Given the description of an element on the screen output the (x, y) to click on. 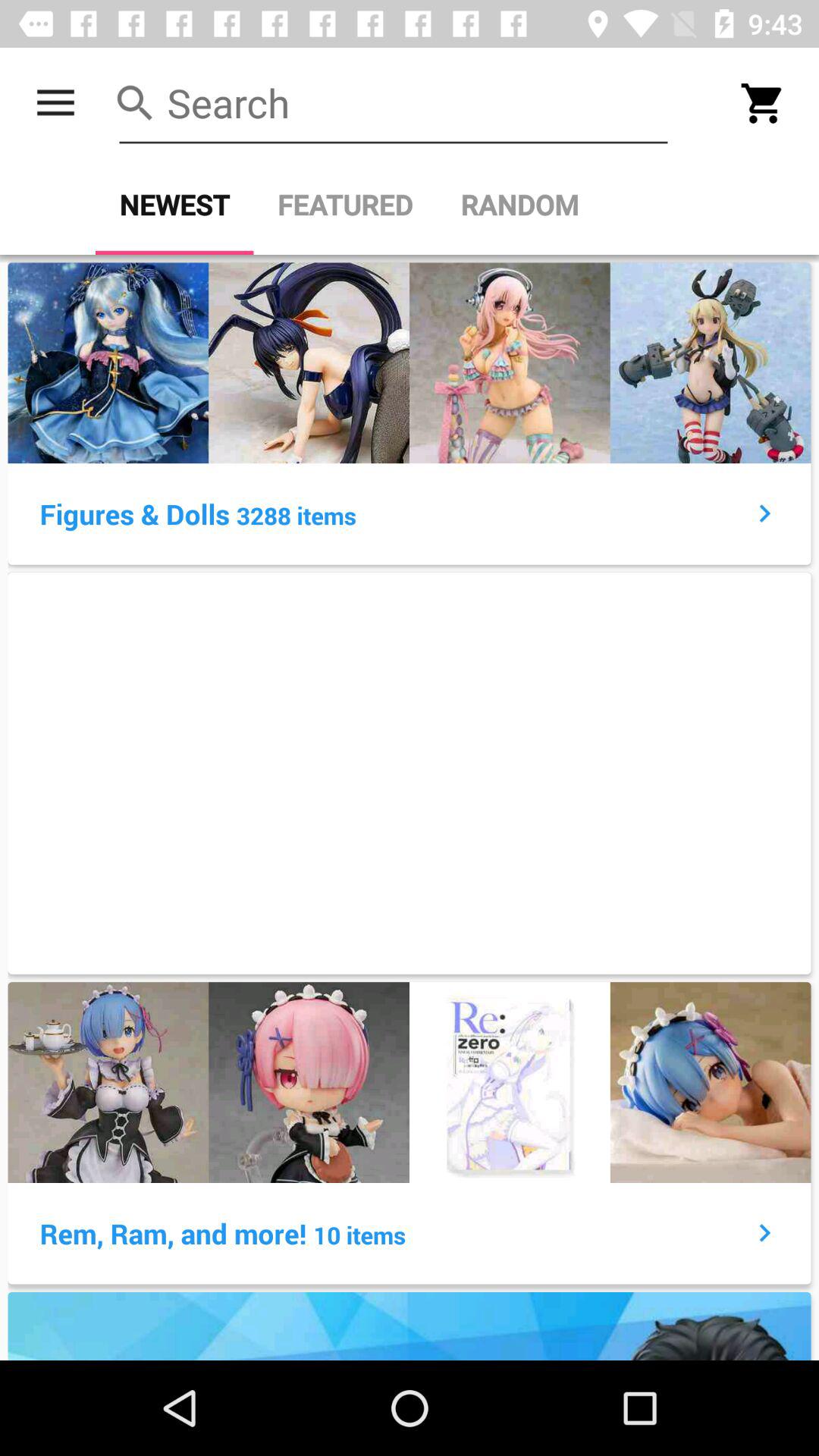
press the icon next to the featured (519, 204)
